Given the description of an element on the screen output the (x, y) to click on. 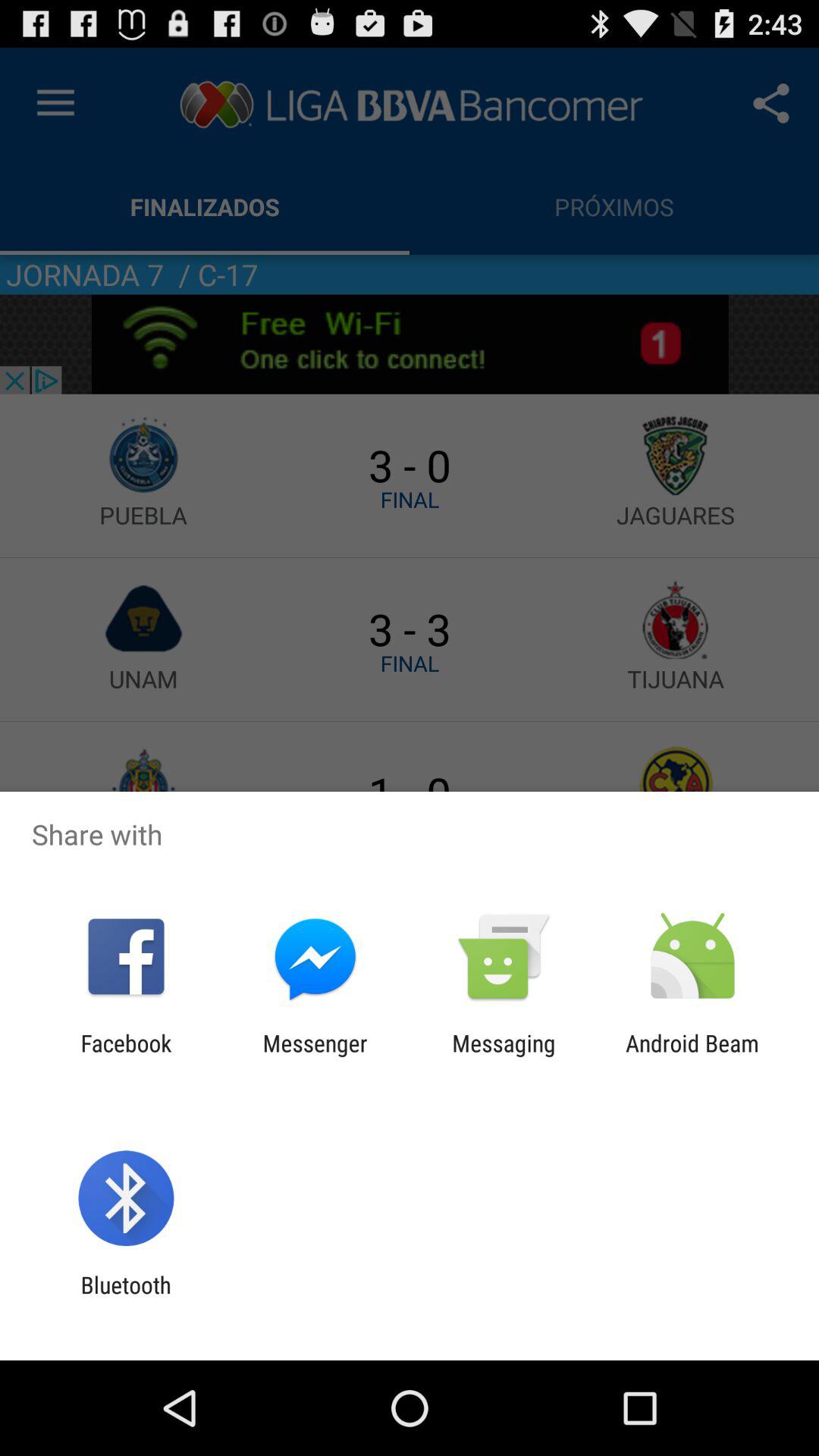
press android beam at the bottom right corner (692, 1056)
